Given the description of an element on the screen output the (x, y) to click on. 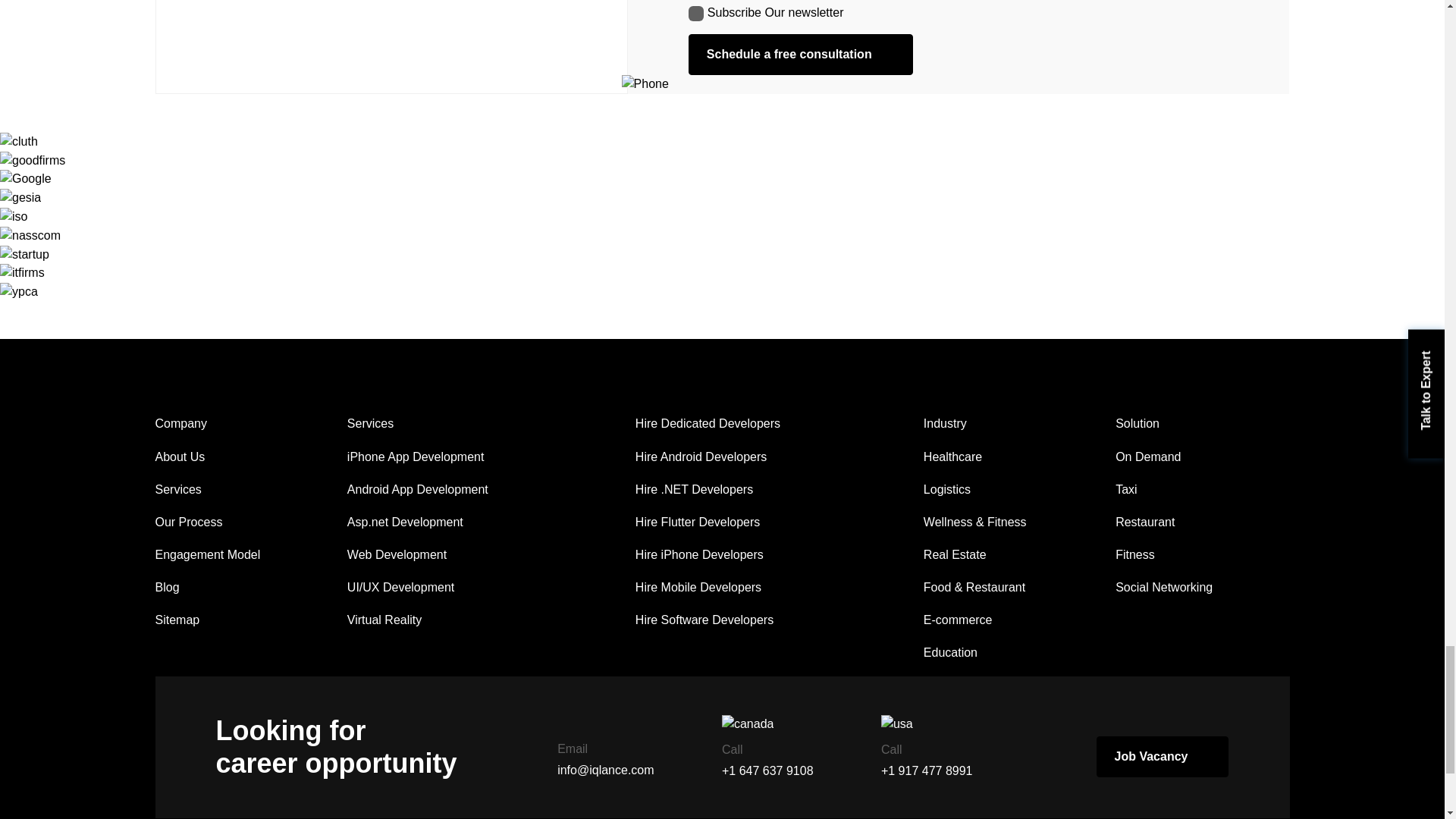
Schedule a free consultation (800, 54)
